Given the description of an element on the screen output the (x, y) to click on. 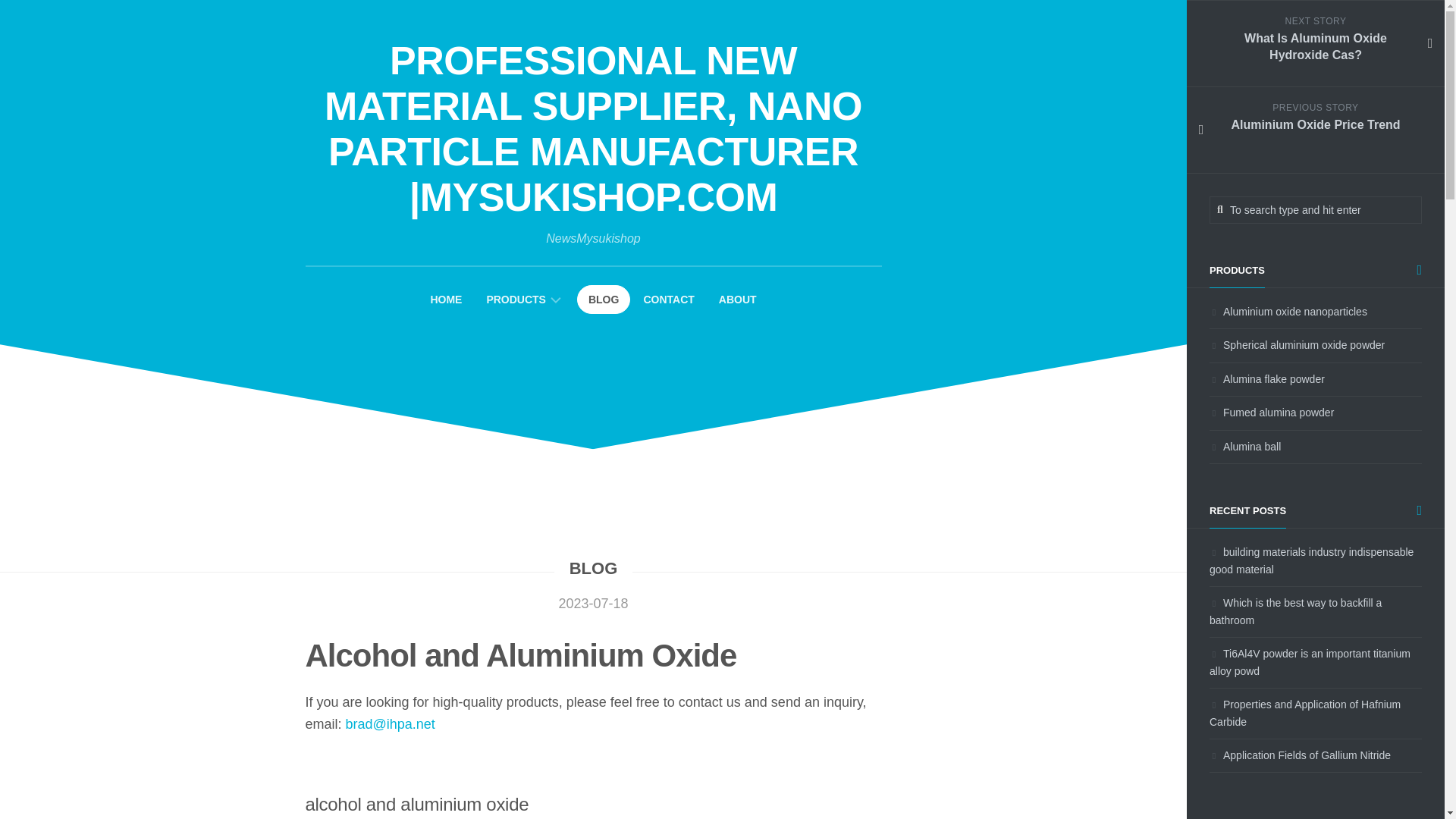
HOME (445, 299)
BLOG (593, 568)
To search type and hit enter (1315, 209)
CONTACT (668, 299)
ABOUT (738, 299)
To search type and hit enter (1315, 209)
BLOG (603, 299)
PRODUCTS (516, 299)
